Given the description of an element on the screen output the (x, y) to click on. 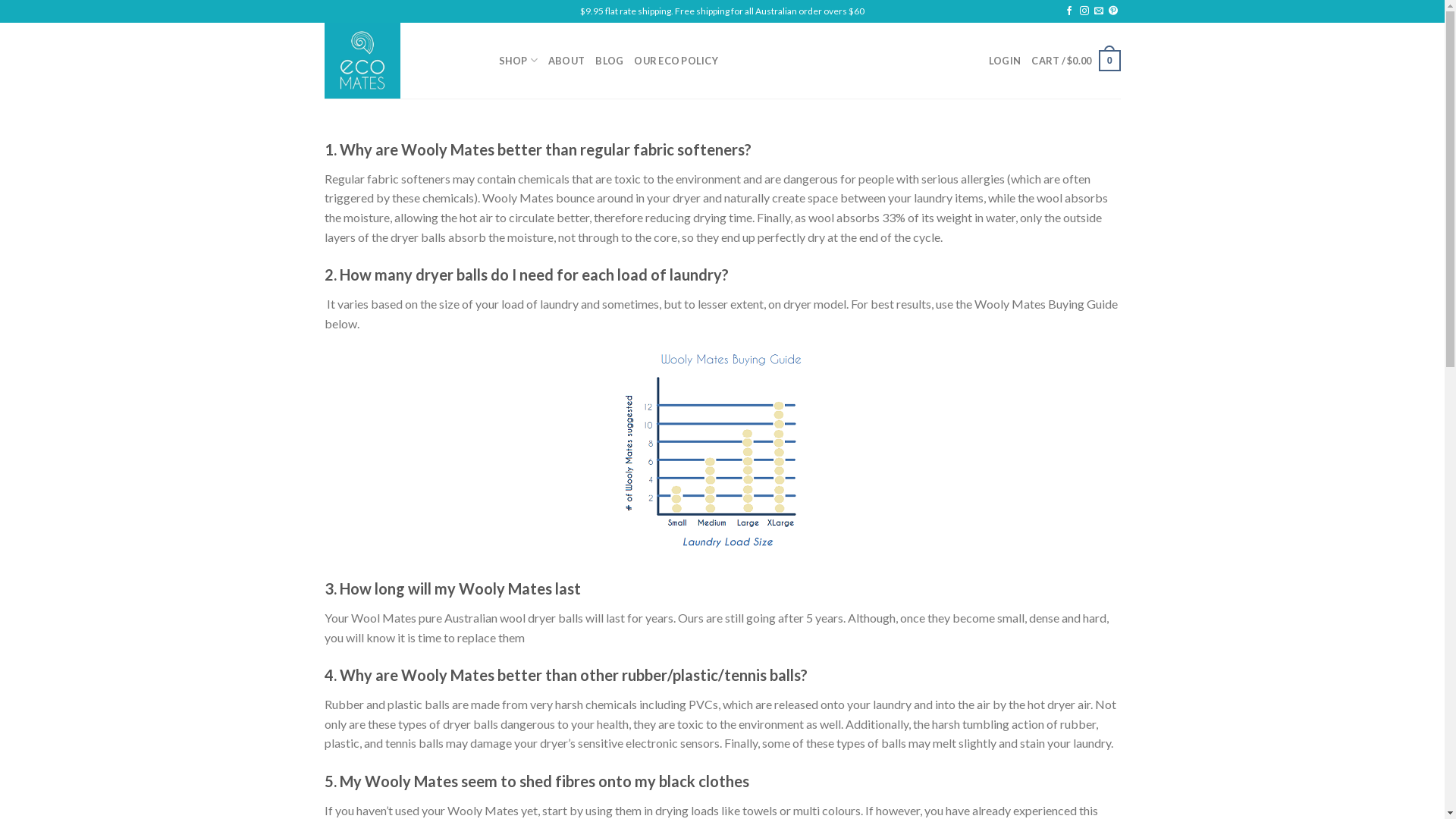
Follow on Facebook Element type: hover (1068, 11)
Eco Mates - Pure Laundry Solutions Element type: hover (400, 60)
BLOG Element type: text (609, 60)
Follow on Instagram Element type: hover (1083, 11)
OUR ECO POLICY Element type: text (675, 60)
LOGIN Element type: text (1004, 60)
ABOUT Element type: text (566, 60)
Follow on Pinterest Element type: hover (1112, 11)
CART / $0.00
0 Element type: text (1075, 60)
Send us an email Element type: hover (1098, 11)
SHOP Element type: text (517, 60)
